Given the description of an element on the screen output the (x, y) to click on. 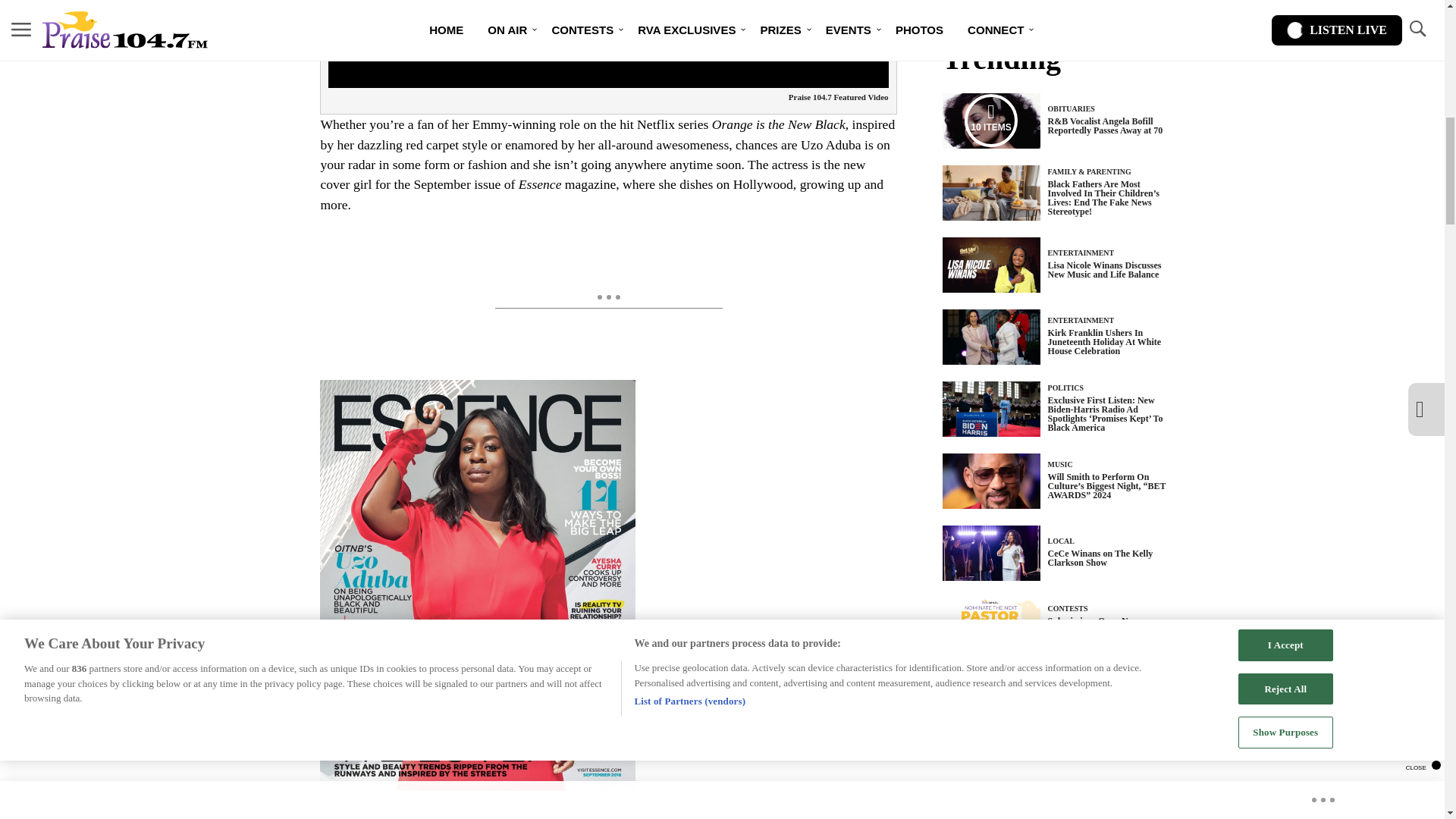
Media Playlist (990, 120)
